Given the description of an element on the screen output the (x, y) to click on. 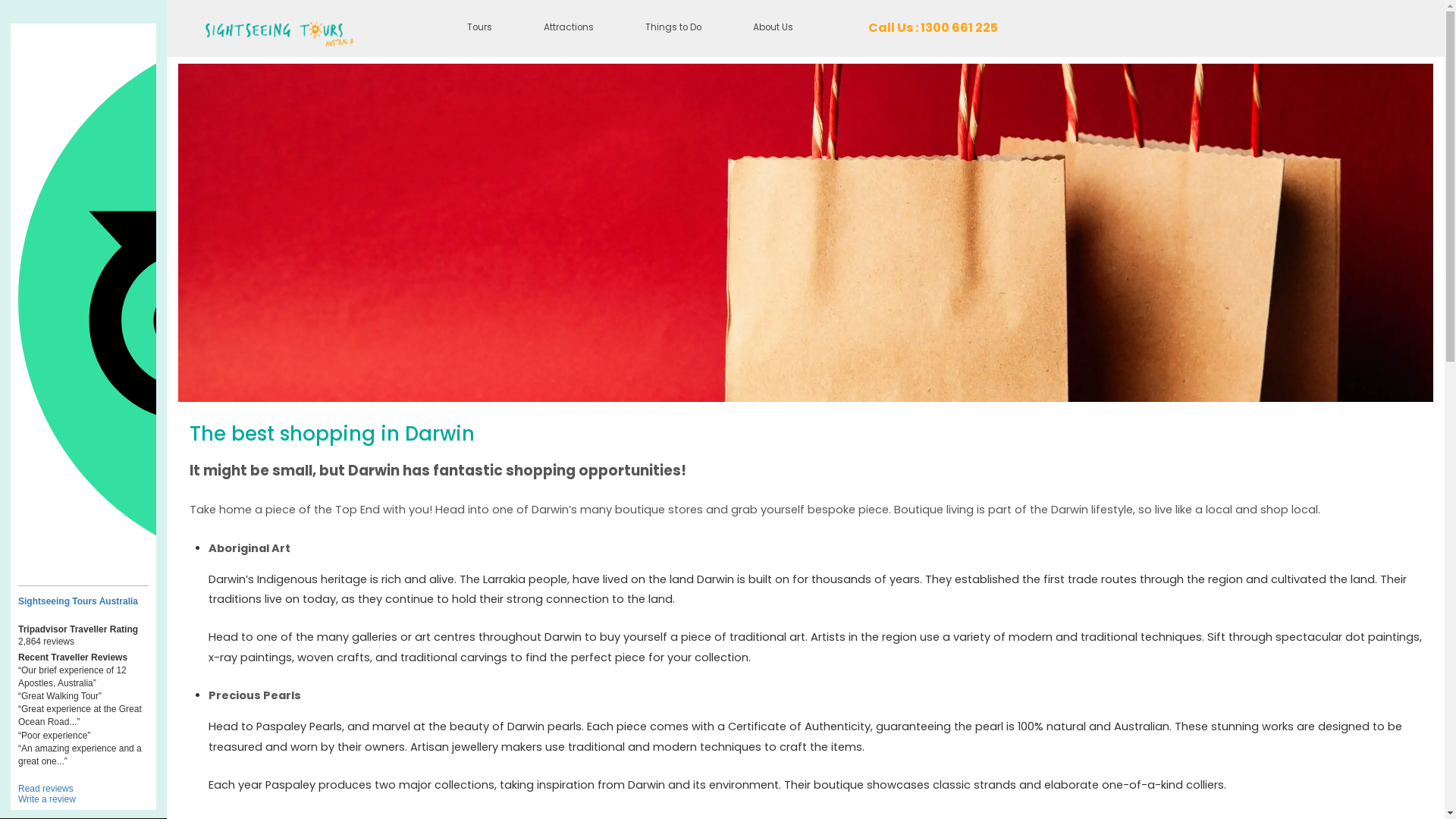
Sightseeing Tours Australia Element type: text (83, 600)
Write a review Element type: text (46, 798)
Read reviews Element type: text (45, 788)
About Us Element type: text (773, 28)
Things to Do Element type: text (673, 28)
Attractions Element type: text (568, 28)
Tours Element type: text (479, 28)
Call Us : 1300 661 225 Element type: text (932, 28)
